Given the description of an element on the screen output the (x, y) to click on. 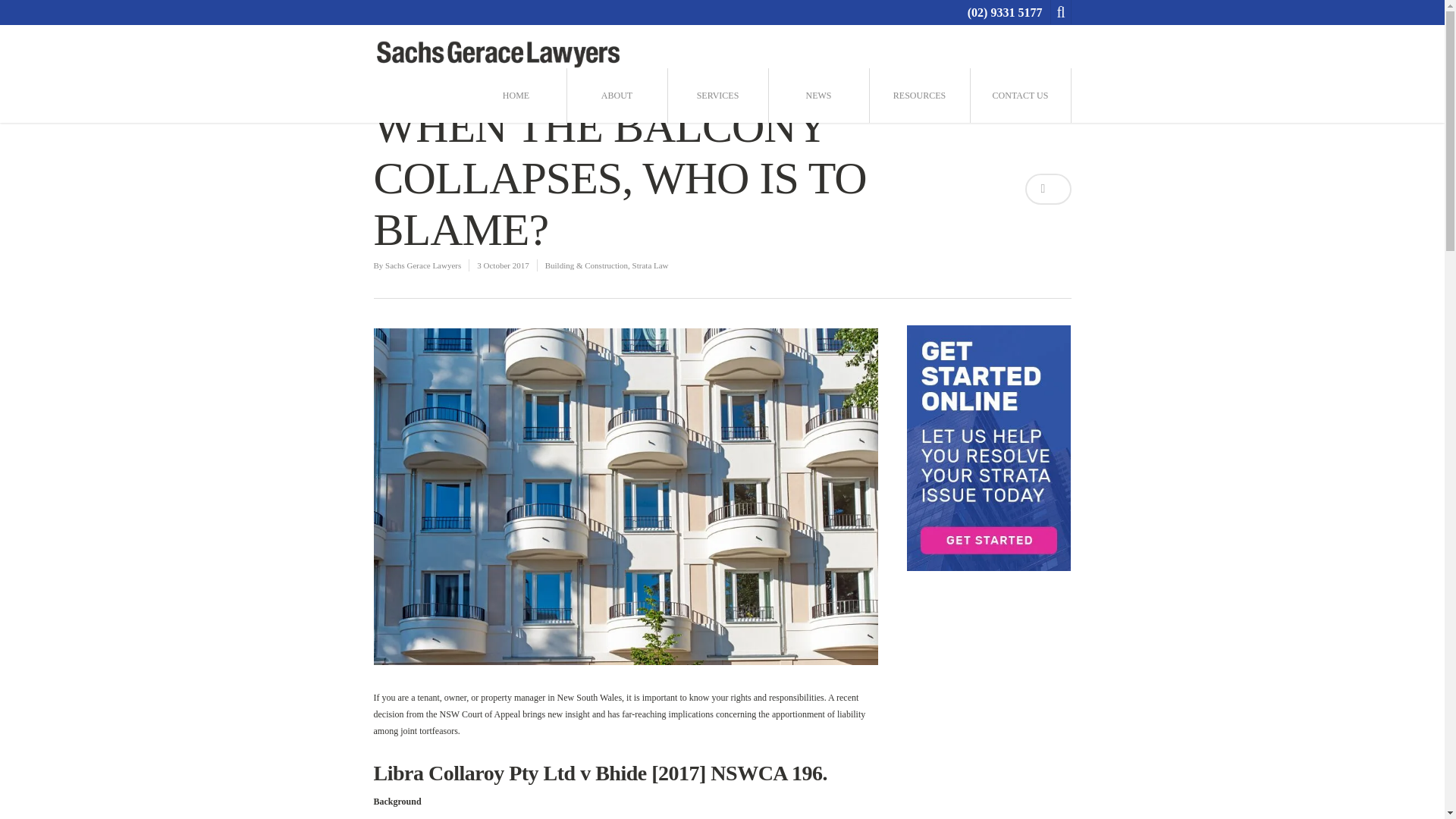
HOME (516, 94)
Strata Law (649, 265)
NEWS (817, 94)
Posts by Sachs Gerace Lawyers (423, 265)
CONTACT US (1019, 94)
Sachs Gerace Lawyers (423, 265)
RESOURCES (919, 94)
ABOUT (616, 94)
SERVICES (717, 94)
